Given the description of an element on the screen output the (x, y) to click on. 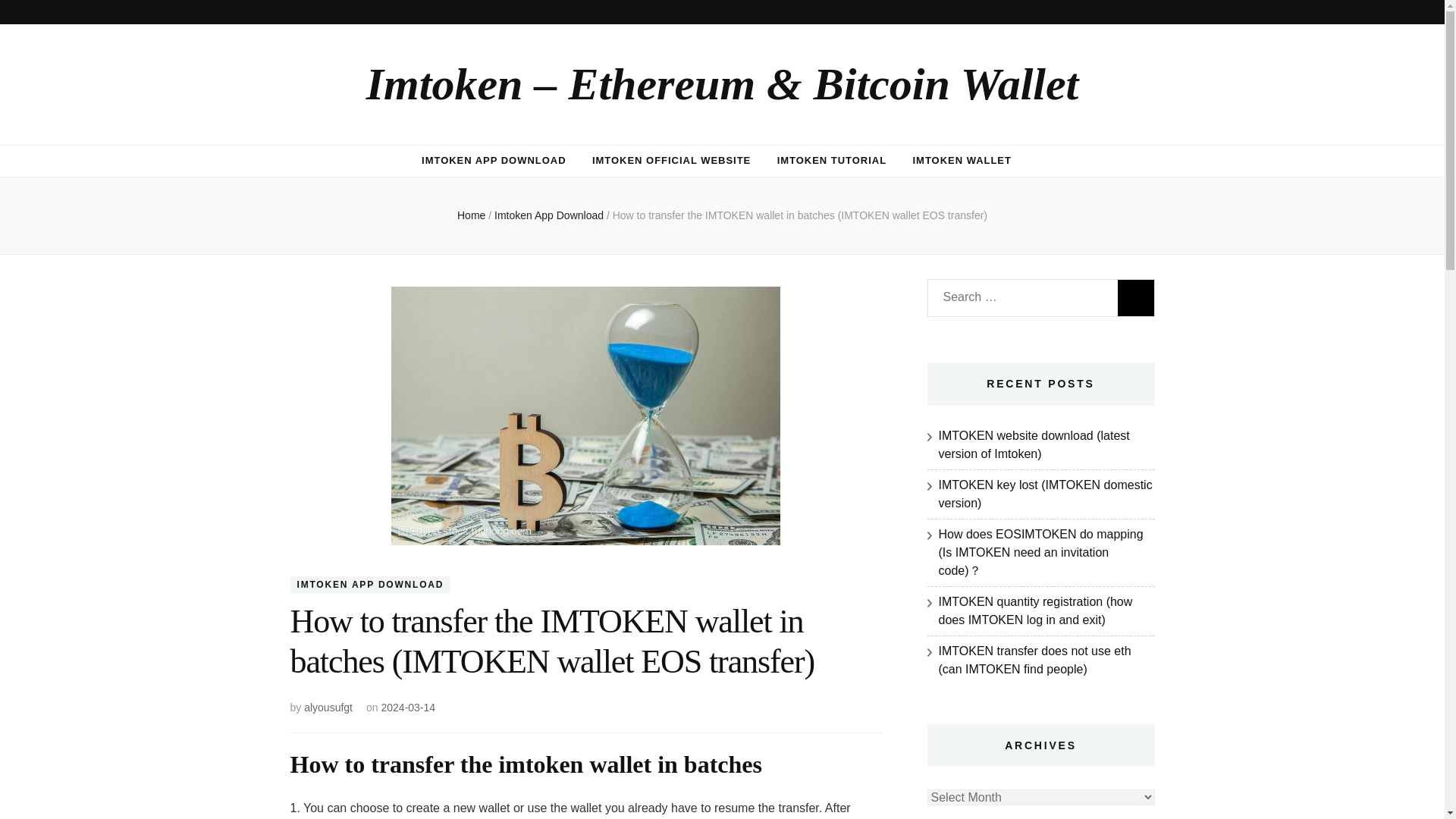
Search (1136, 298)
IMTOKEN OFFICIAL WEBSITE (671, 160)
Search (1136, 298)
IMTOKEN APP DOWNLOAD (369, 584)
2024-03-14 (407, 707)
IMTOKEN WALLET (961, 160)
IMTOKEN TUTORIAL (831, 160)
Home (470, 215)
Imtoken App Download (551, 215)
alyousufgt (328, 707)
